Given the description of an element on the screen output the (x, y) to click on. 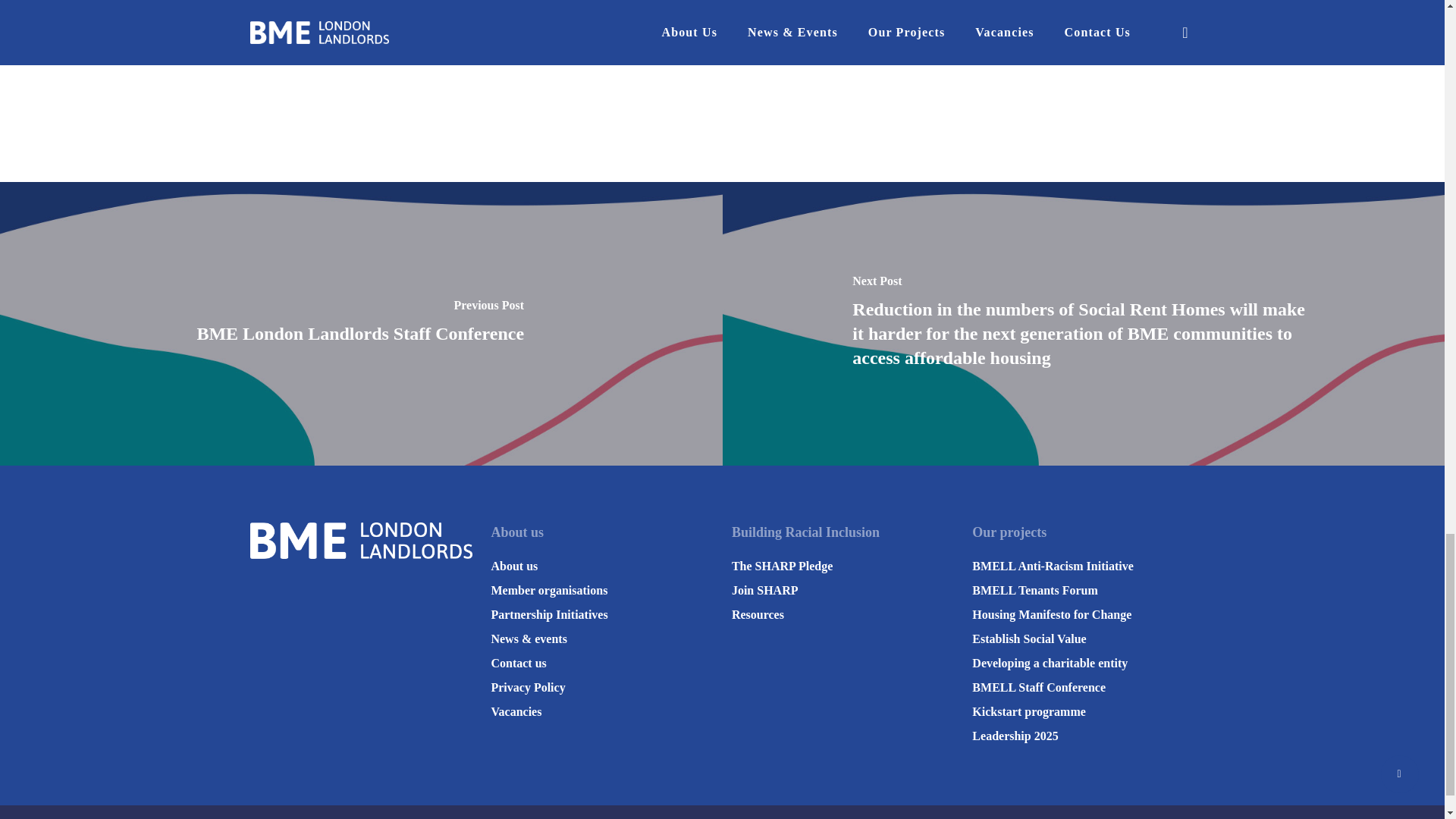
bmelondon.org (934, 32)
